Given the description of an element on the screen output the (x, y) to click on. 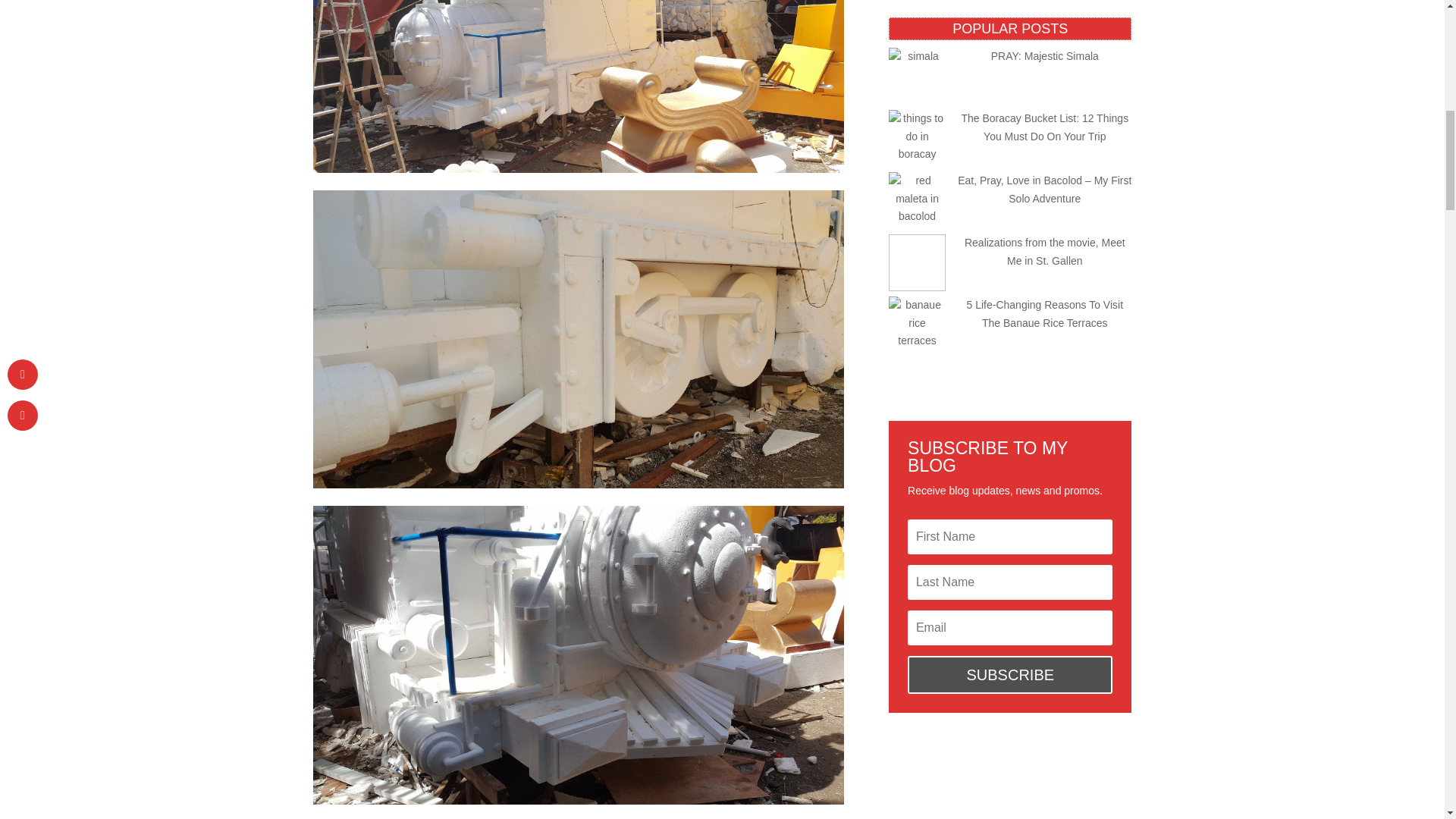
The Boracay Bucket List: 12 Things You Must Do On Your Trip (1044, 127)
PRAY: Majestic Simala (1045, 55)
SUBSCRIBE (1009, 674)
5 Life-Changing Reasons To Visit The Banaue Rice Terraces (1045, 313)
Realizations from the movie, Meet Me in St. Gallen (1044, 251)
